Given the description of an element on the screen output the (x, y) to click on. 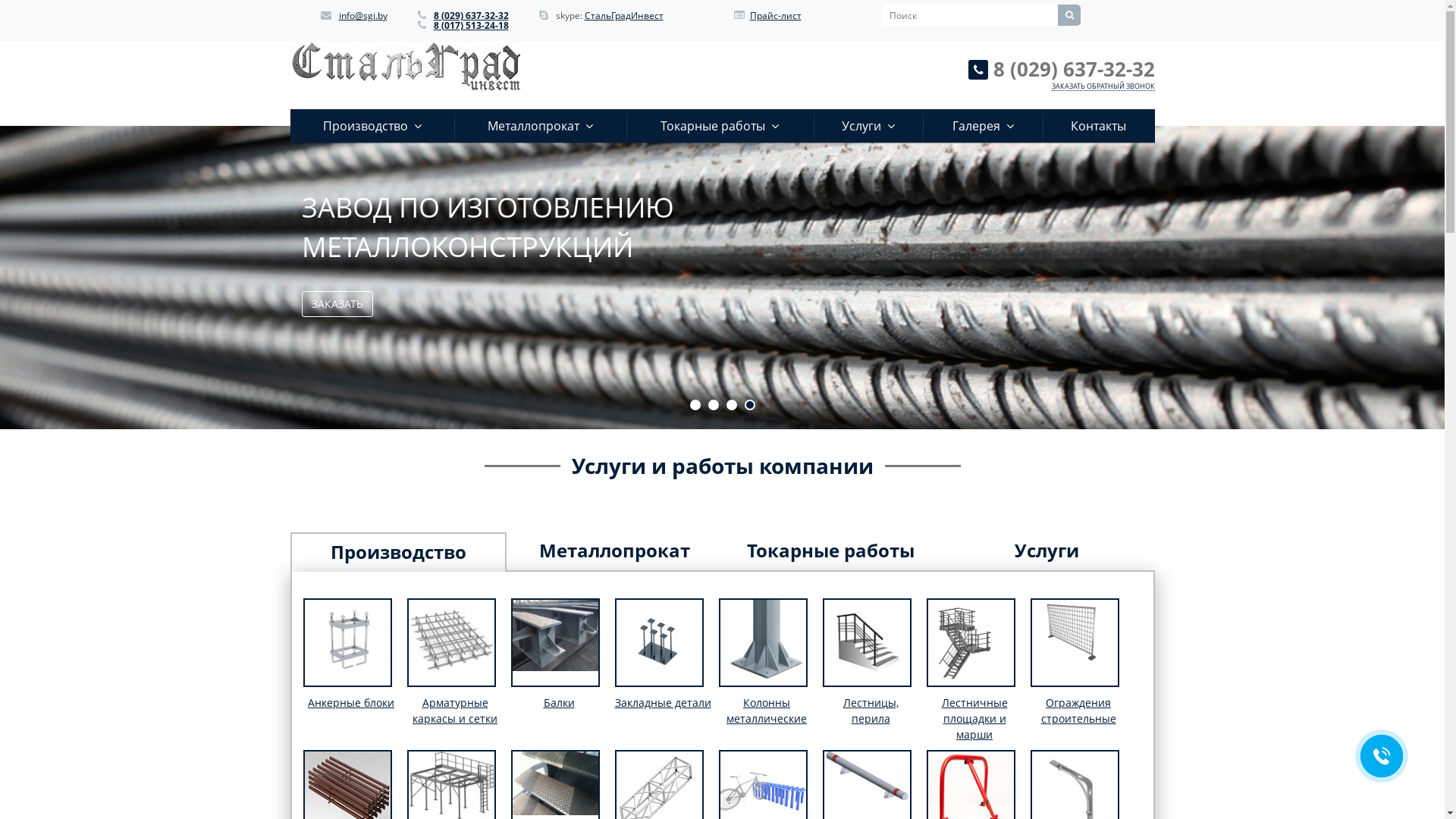
3 Element type: text (731, 404)
8 (029) 637-32-32 Element type: text (1073, 68)
1 Element type: text (695, 404)
2 Element type: text (713, 404)
info@sgi.by Element type: text (362, 15)
8 (017) 513-24-18 Element type: text (470, 24)
8 (029) 637-32-32 Element type: text (470, 15)
4 Element type: text (749, 404)
